Given the description of an element on the screen output the (x, y) to click on. 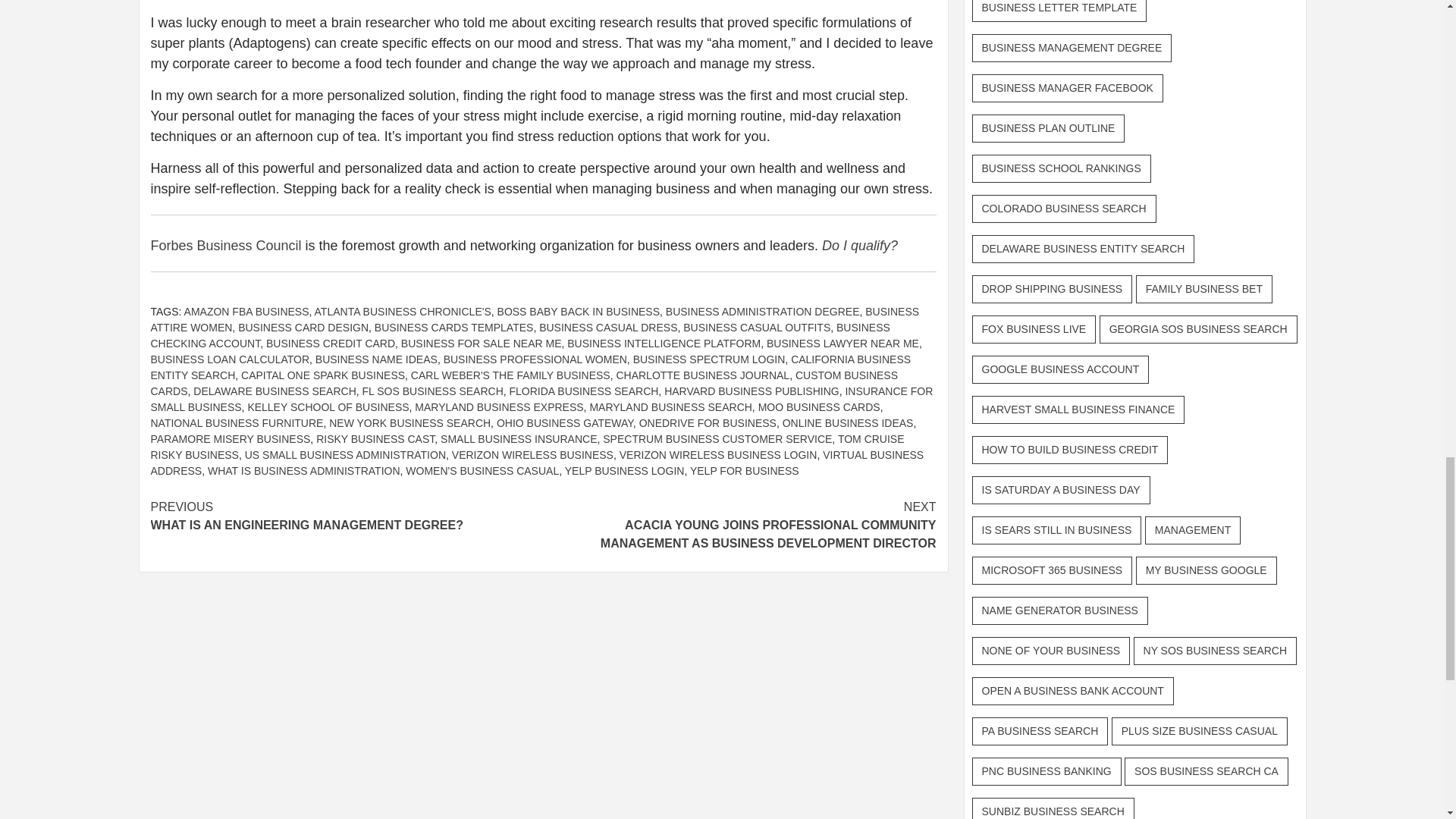
BOSS BABY BACK IN BUSINESS (578, 311)
BUSINESS CREDIT CARD (330, 343)
BUSINESS CASUAL OUTFITS (755, 327)
BUSINESS FOR SALE NEAR ME (481, 343)
ATLANTA BUSINESS CHRONICLE'S (403, 311)
BUSINESS CHECKING ACCOUNT (519, 335)
BUSINESS ATTIRE WOMEN (533, 319)
Forbes Business Council (225, 245)
BUSINESS CARD DESIGN (303, 327)
BUSINESS CARDS TEMPLATES (454, 327)
